Given the description of an element on the screen output the (x, y) to click on. 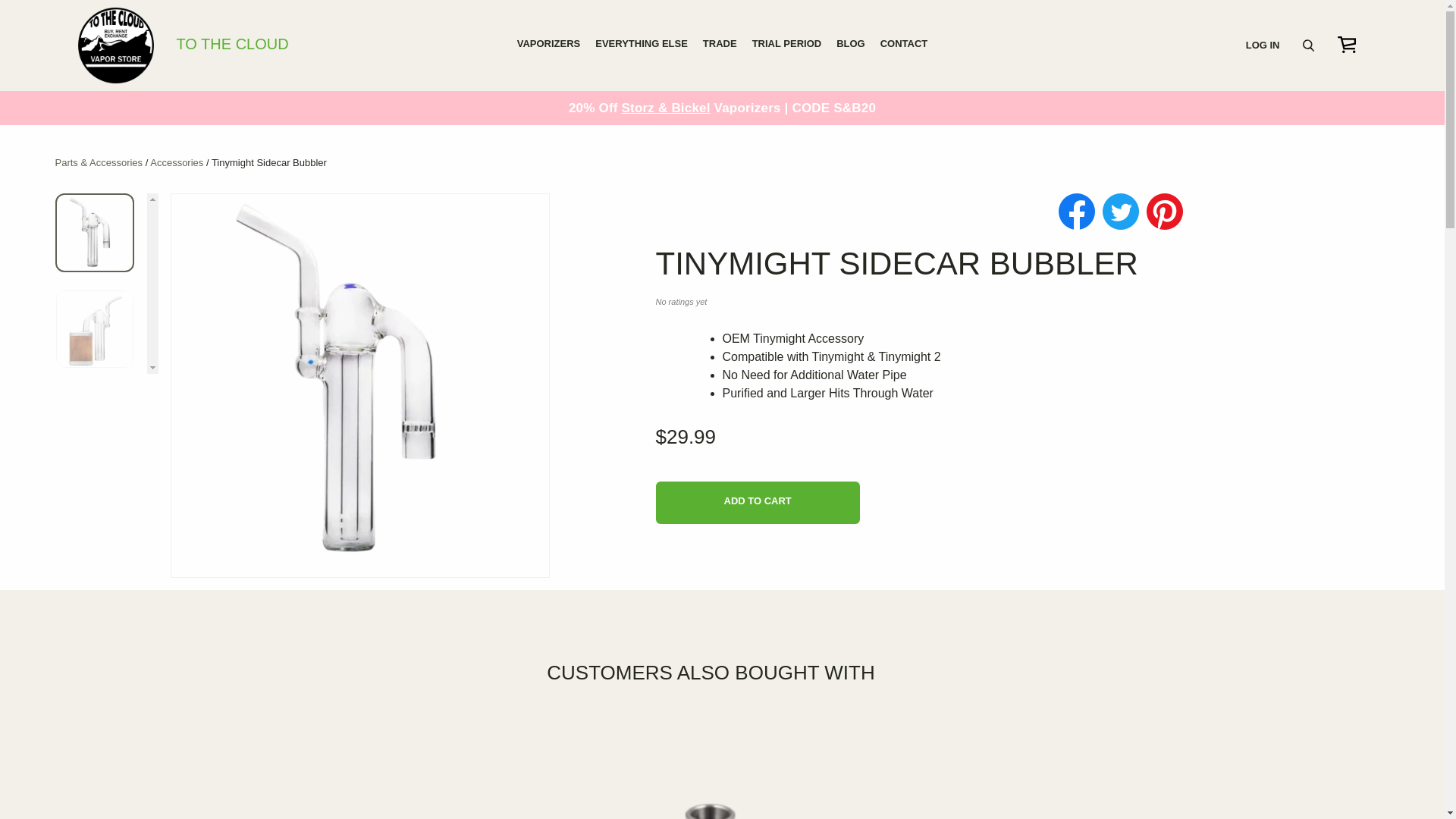
1 (738, 500)
EVERYTHING ELSE (237, 45)
